Given the description of an element on the screen output the (x, y) to click on. 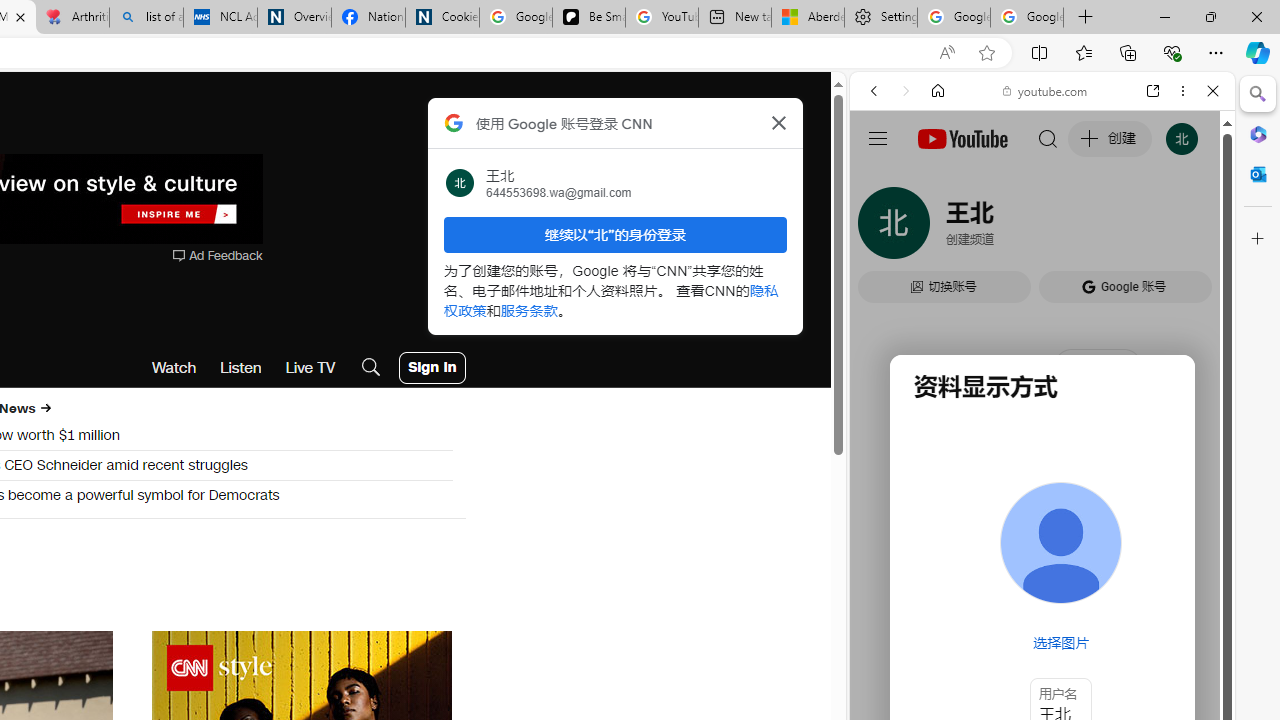
SEARCH TOOLS (1093, 228)
Cookies (441, 17)
Show More Music (1164, 546)
Class: Bz112c Bz112c-r9oPif (778, 122)
Trailer #2 [HD] (1042, 592)
